Given the description of an element on the screen output the (x, y) to click on. 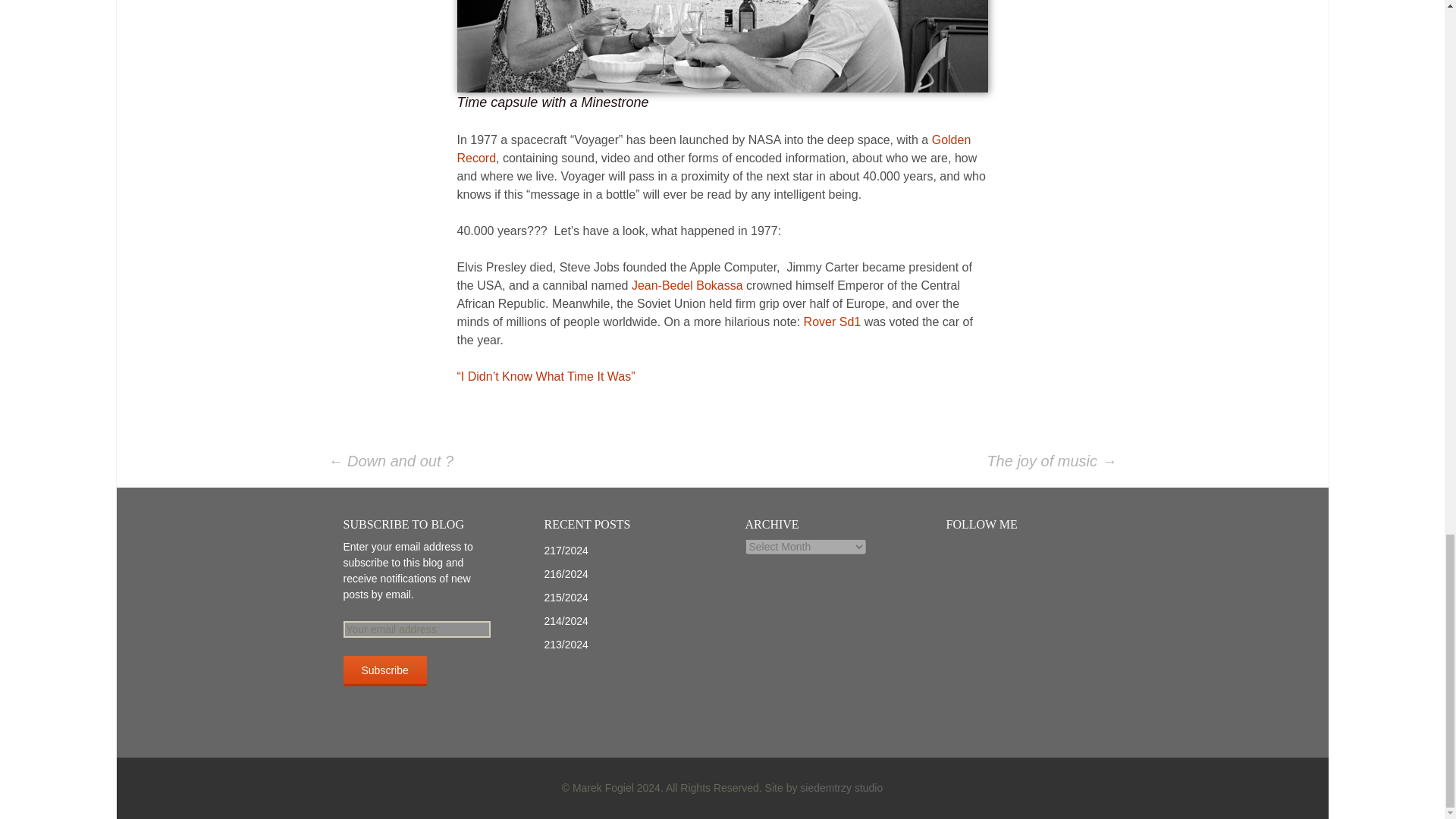
Jean-Bedel Bokassa (688, 285)
Subscribe (384, 671)
Subscribe (384, 671)
siedemtrzy studio (840, 787)
Rover Sd1 (831, 321)
Golden Record (714, 148)
